Given the description of an element on the screen output the (x, y) to click on. 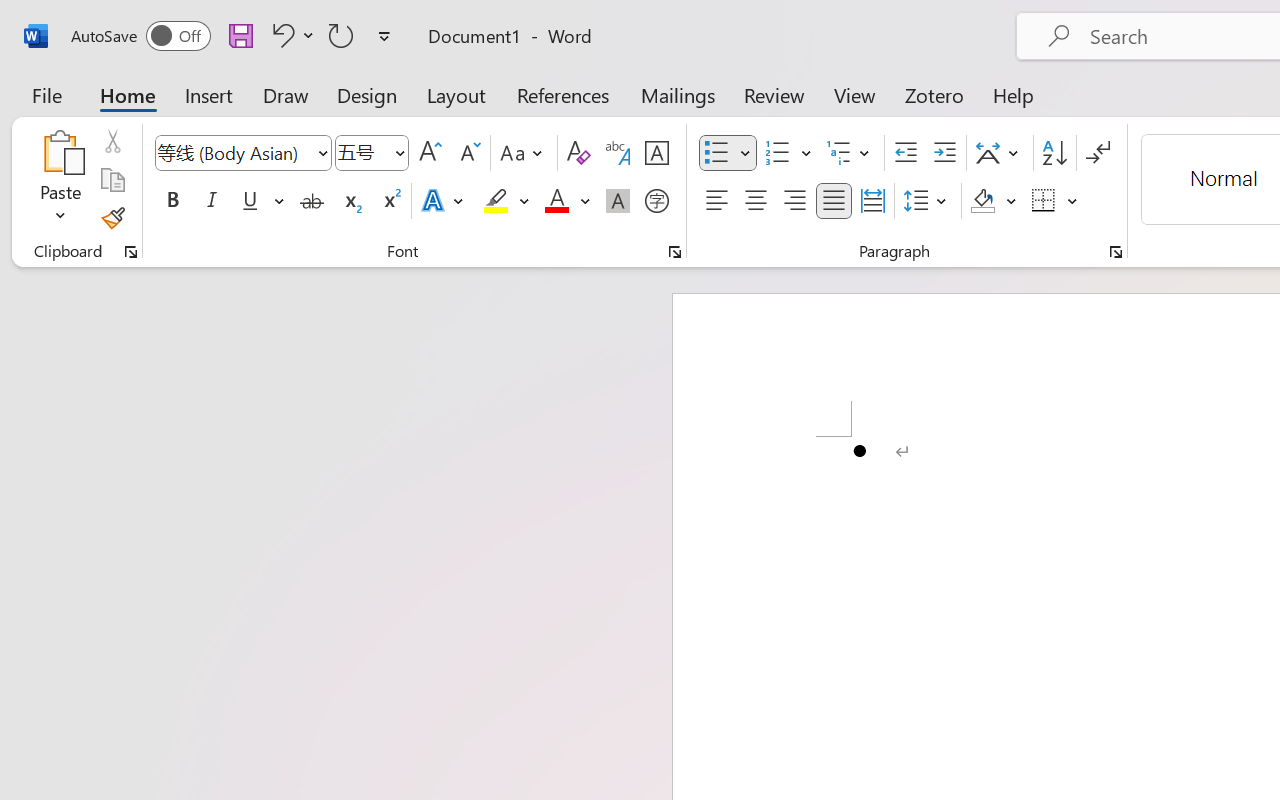
Undo Bullet Default (280, 35)
